Given the description of an element on the screen output the (x, y) to click on. 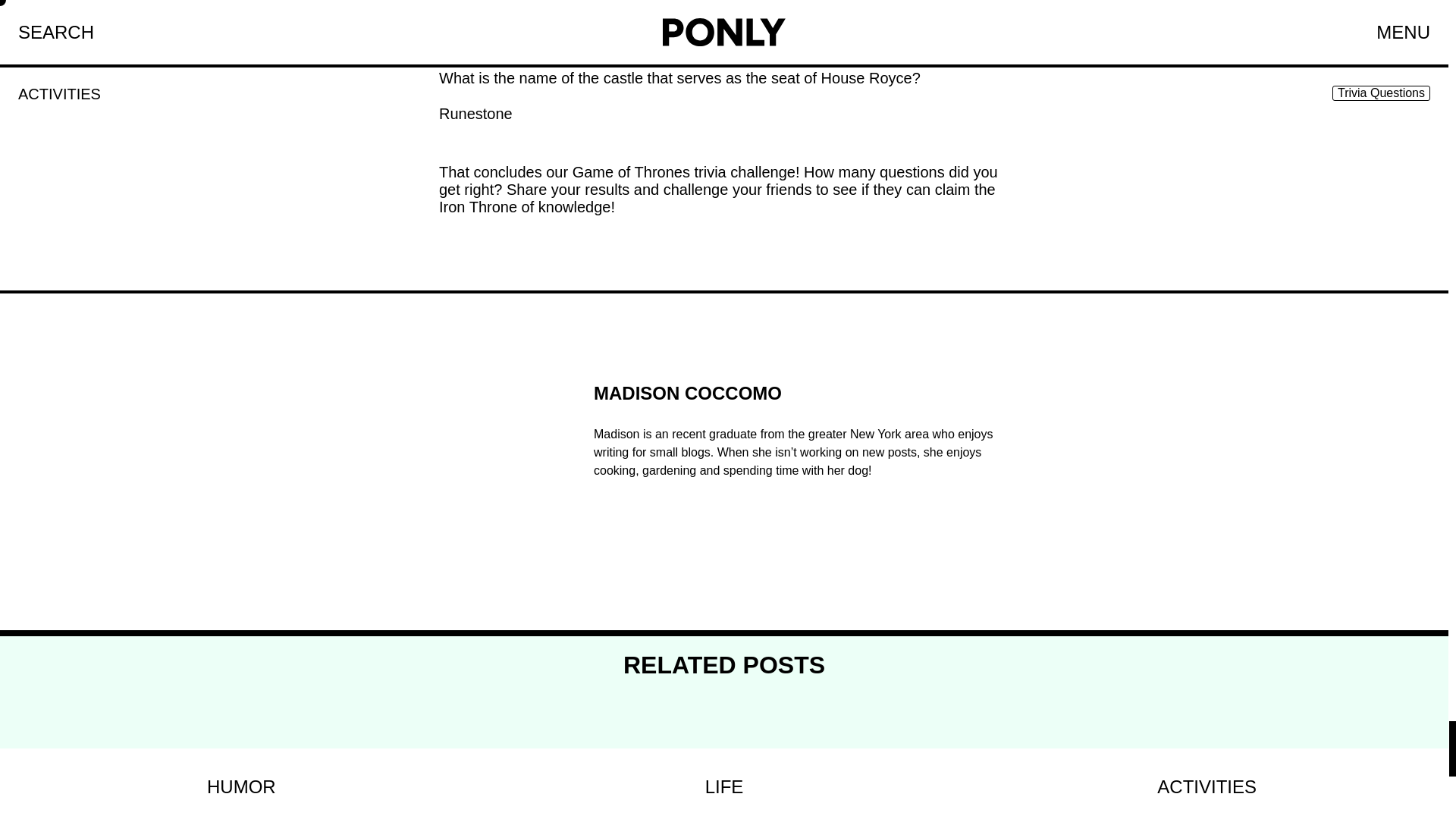
MADISON COCCOMO (724, 783)
Madison Coccomo (794, 402)
